Given the description of an element on the screen output the (x, y) to click on. 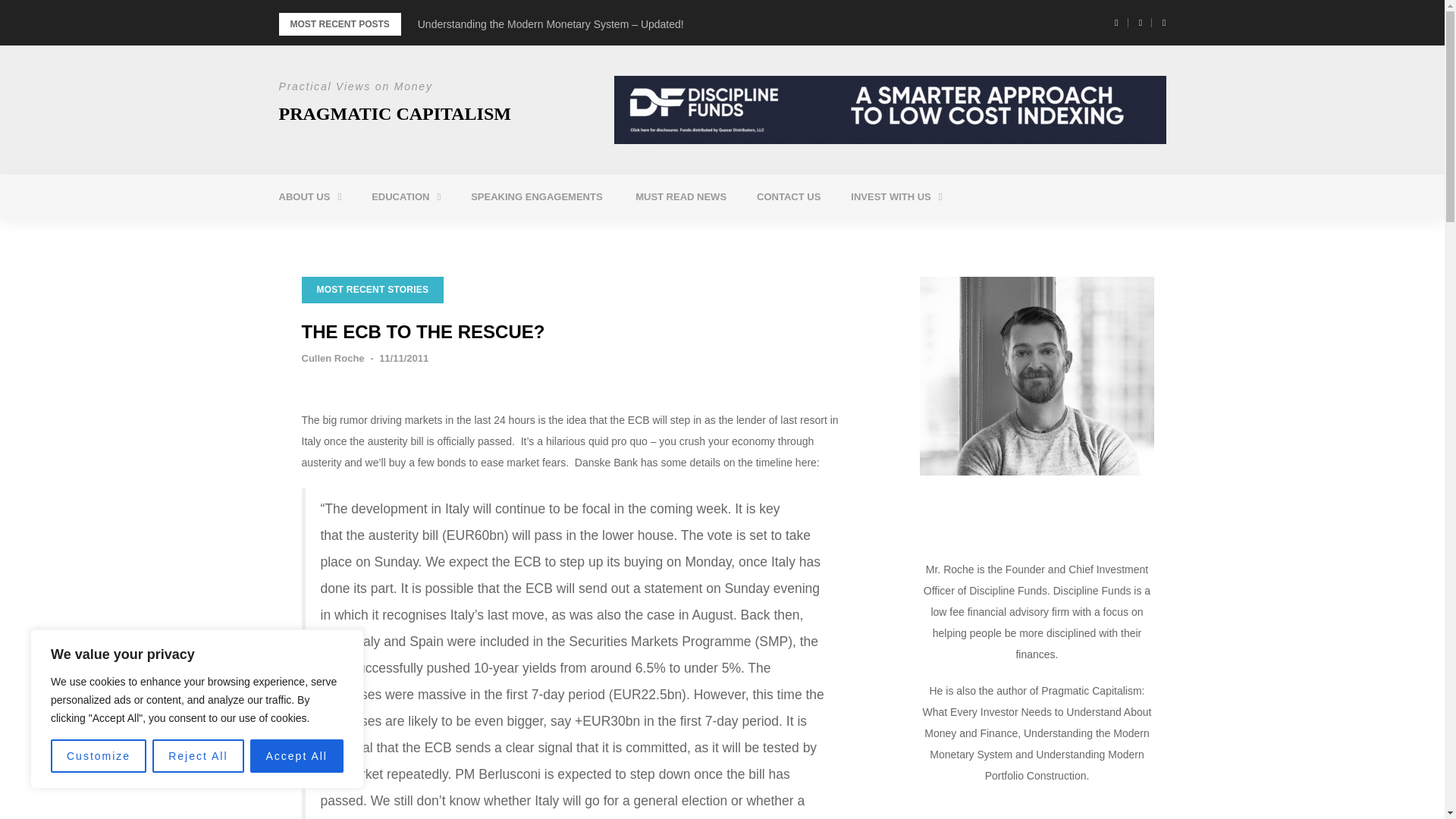
PRAGMATIC CAPITALISM (395, 113)
Customize (98, 756)
Meet Cullen Roche! (365, 235)
ABOUT US (309, 197)
Accept All (296, 756)
Meet Cullen Roche! (365, 235)
Understanding Money (458, 235)
Reject All (197, 756)
About Us (309, 197)
EDUCATION (405, 197)
